Given the description of an element on the screen output the (x, y) to click on. 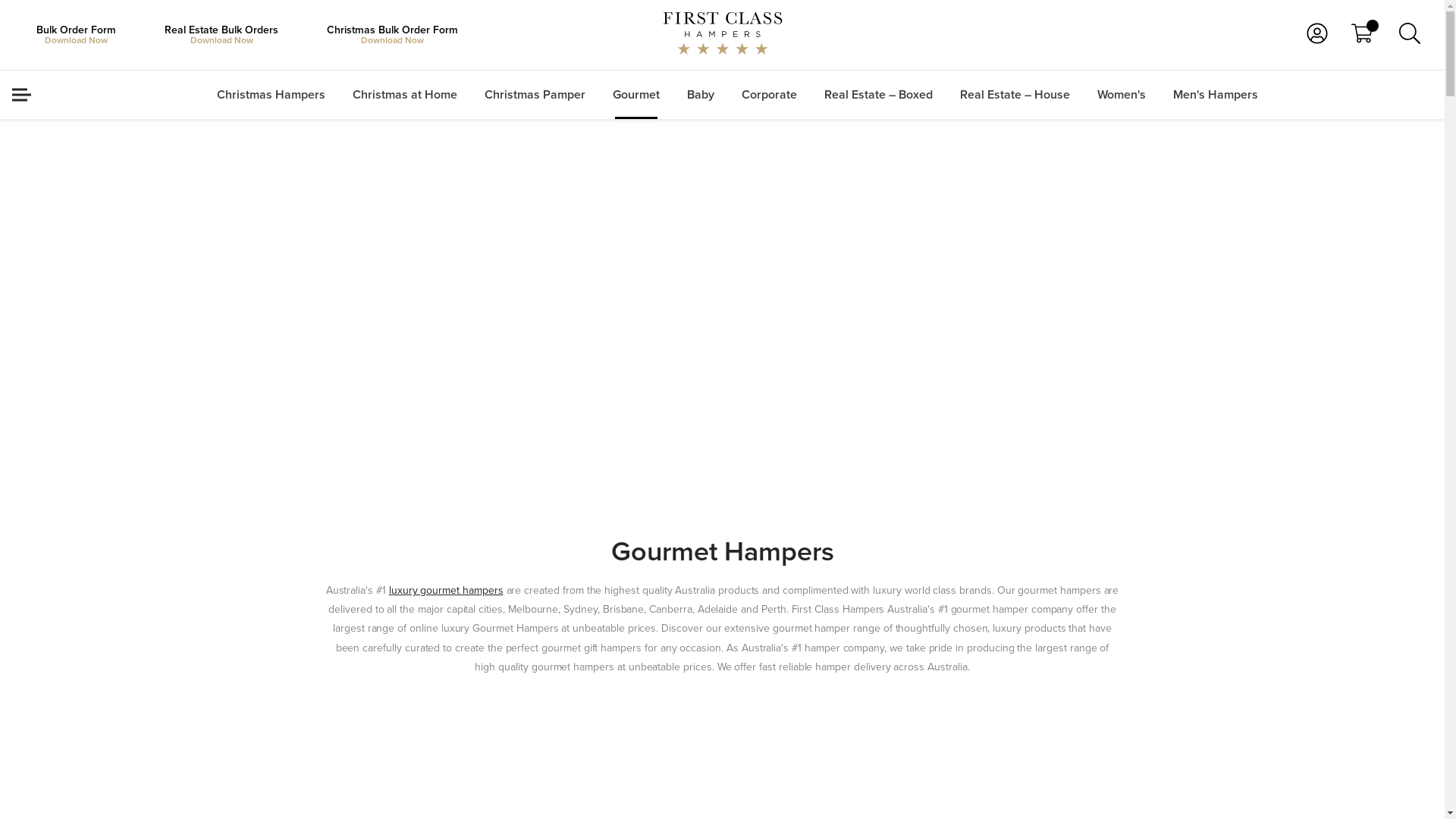
Baby Element type: text (700, 94)
Christmas Hampers Element type: text (270, 94)
Christmas at Home Element type: text (404, 94)
Corporate Element type: text (769, 94)
Christmas Pamper Element type: text (534, 94)
Women's Element type: text (1121, 94)
Gourmet Element type: text (635, 94)
  Element type: text (1361, 32)
Men's Hampers Element type: text (1215, 94)
luxury gourmet hampers Element type: text (446, 589)
